Given the description of an element on the screen output the (x, y) to click on. 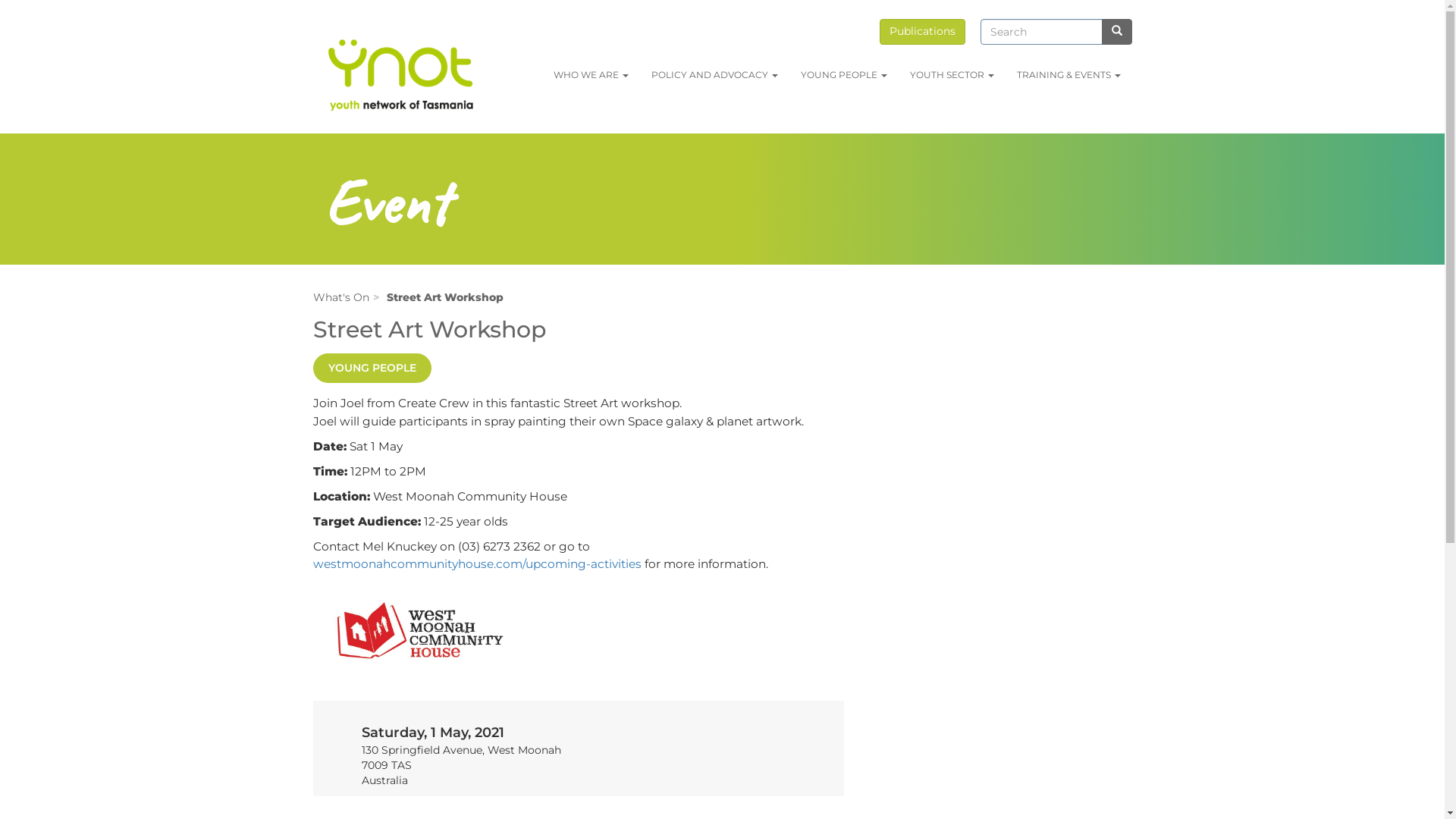
Home Element type: hover (401, 72)
westmoonahcommunityhouse.com/upcoming-activities Element type: text (476, 563)
Publications Element type: text (922, 31)
YOUNG PEOPLE Element type: text (842, 75)
TRAINING & EVENTS Element type: text (1068, 75)
POLICY AND ADVOCACY Element type: text (714, 75)
Search Element type: text (1116, 31)
WHO WE ARE Element type: text (590, 75)
Enter the terms you wish to search for. Element type: hover (1040, 31)
Skip to main content Element type: text (0, 11)
YOUTH SECTOR Element type: text (950, 75)
